Given the description of an element on the screen output the (x, y) to click on. 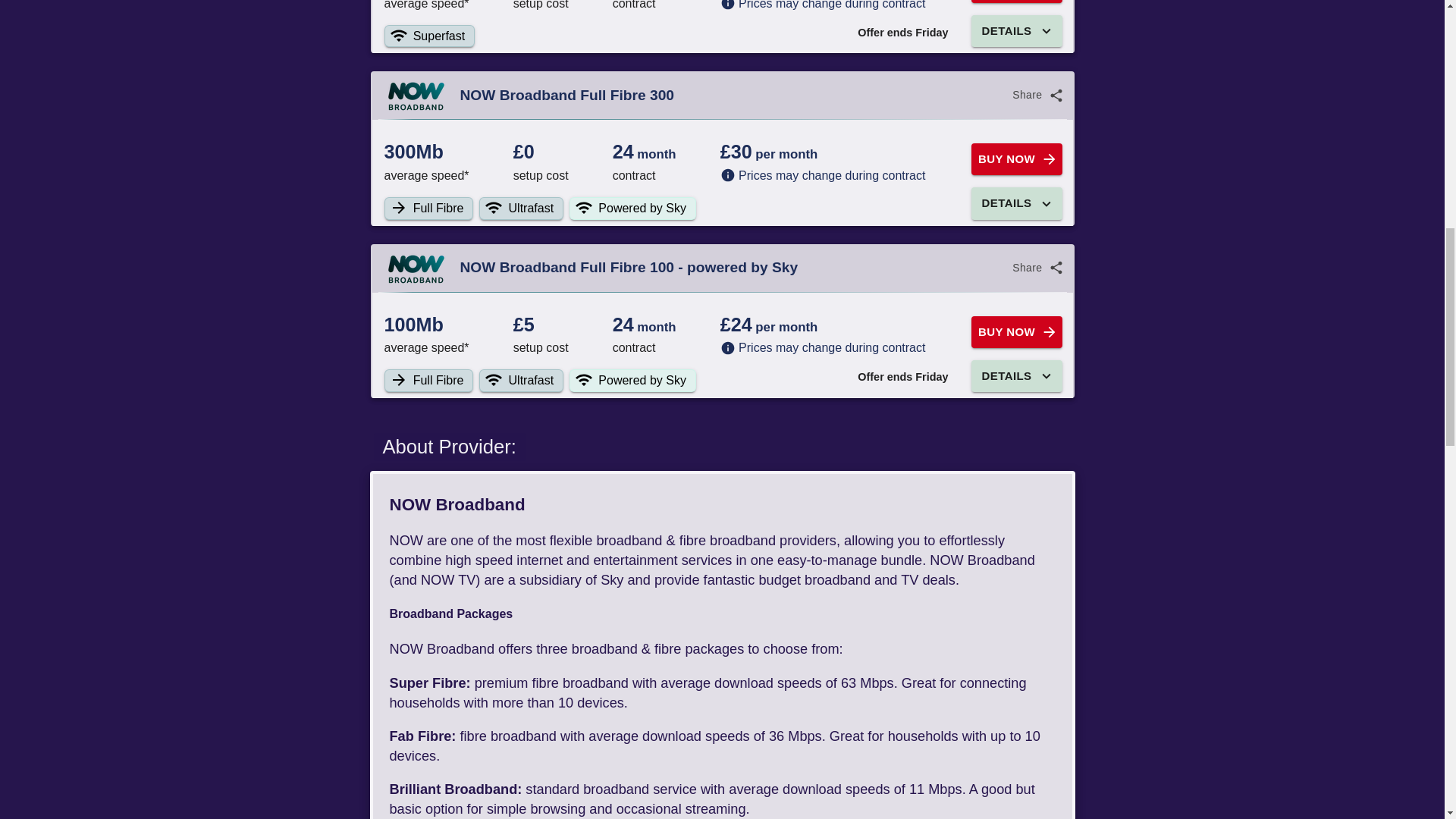
DETAILS (1016, 376)
DETAILS (1016, 30)
BUY NOW (1016, 1)
DETAILS (1016, 203)
Share (1035, 267)
Share (1035, 94)
BUY NOW (1016, 159)
BUY NOW (1016, 332)
